Given the description of an element on the screen output the (x, y) to click on. 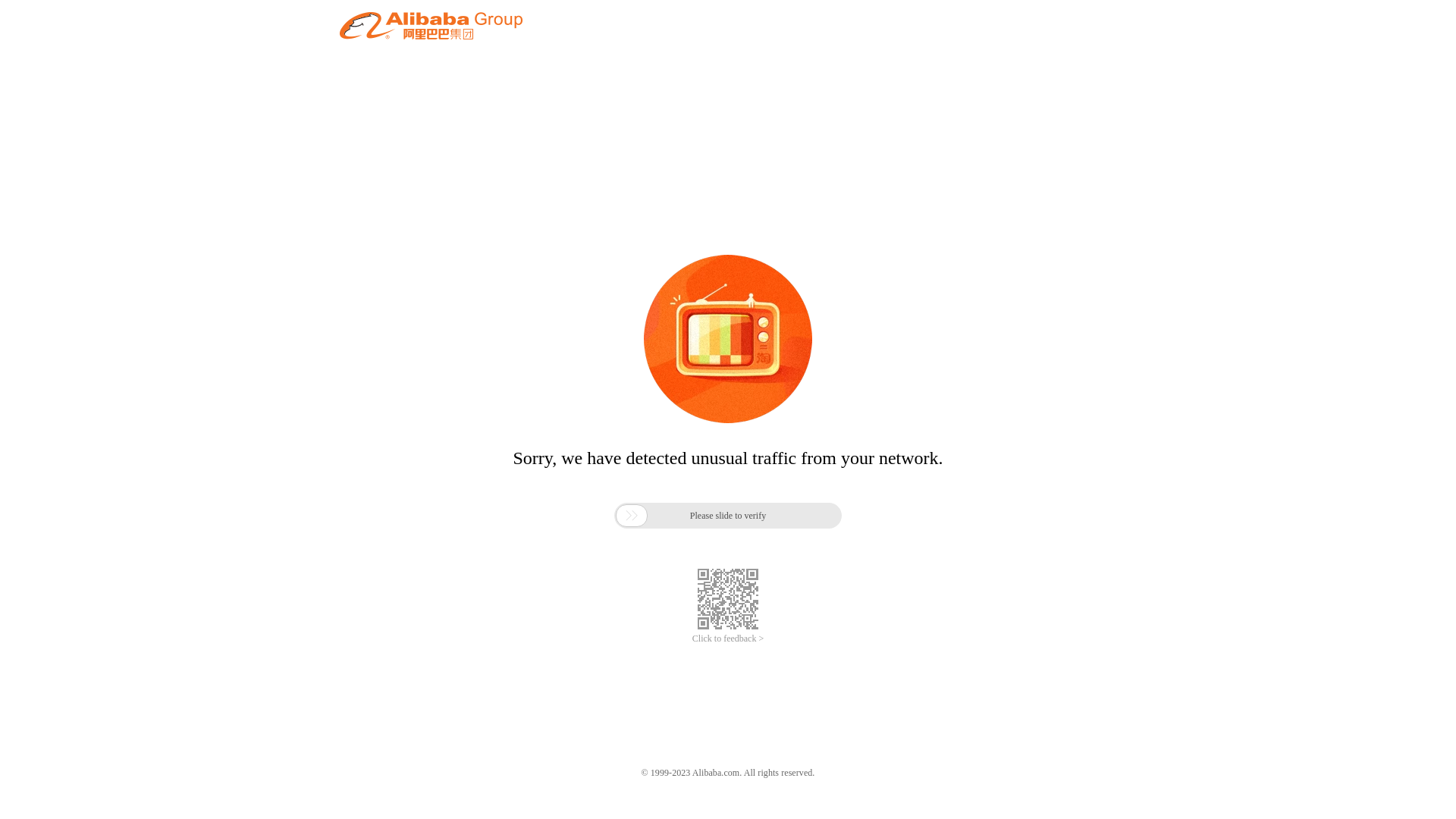
Click to feedback > Element type: text (727, 638)
